Given the description of an element on the screen output the (x, y) to click on. 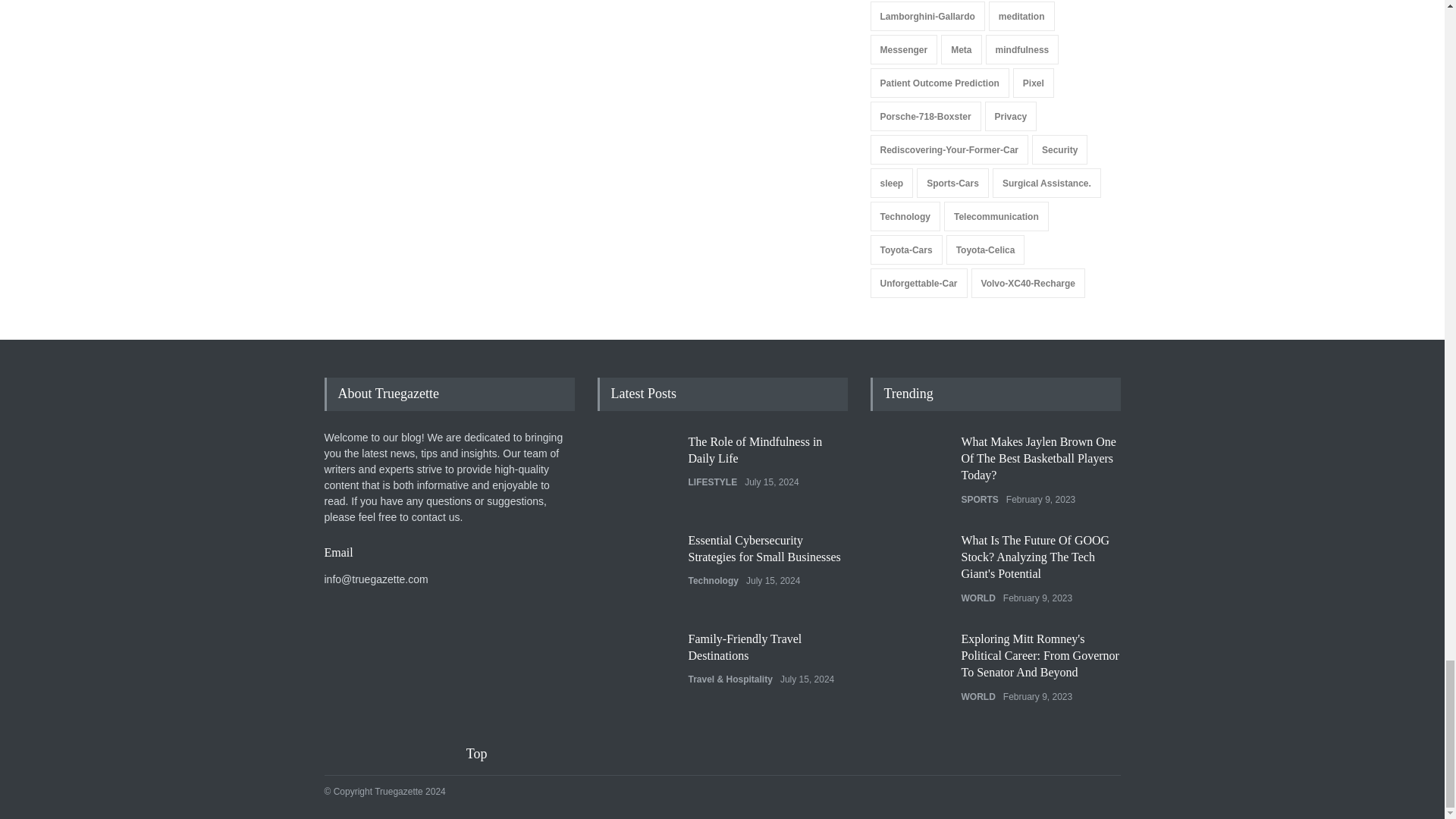
Top (485, 753)
